Given the description of an element on the screen output the (x, y) to click on. 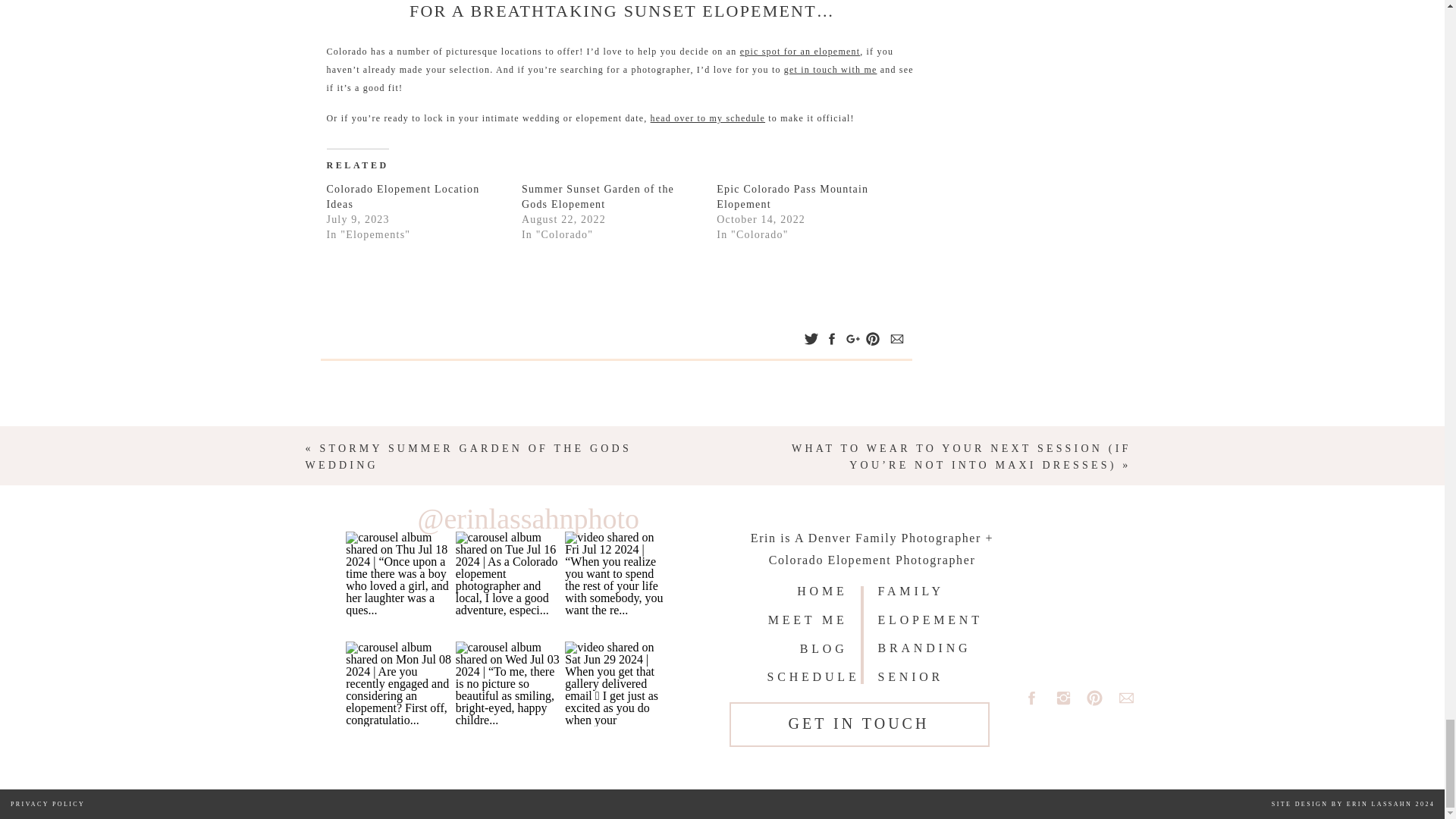
head over to my schedule (707, 118)
epic spot for an elopement (799, 50)
Epic Colorado Pass Mountain Elopement (791, 196)
get in touch with me (830, 69)
Summer Sunset Garden of the Gods Elopement (597, 196)
Colorado Elopement Location Ideas (402, 196)
